Given the description of an element on the screen output the (x, y) to click on. 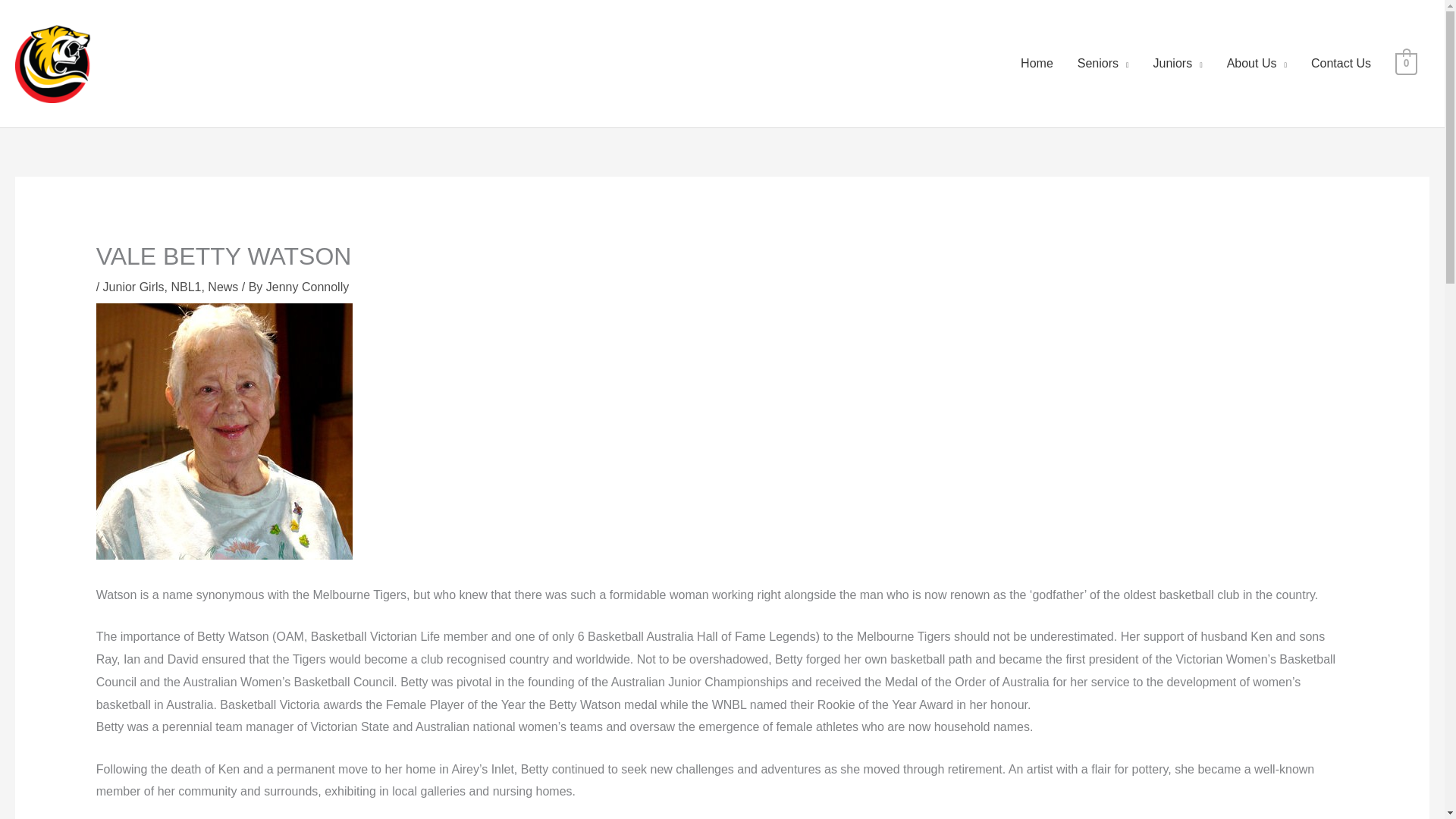
Seniors (1103, 63)
NBL1 (185, 286)
Contact Us (1340, 63)
News (223, 286)
View all posts by Jenny Connolly (307, 286)
Juniors (1177, 63)
About Us (1256, 63)
Home (1037, 63)
0 (1405, 62)
Junior Girls (133, 286)
Jenny Connolly (307, 286)
